Given the description of an element on the screen output the (x, y) to click on. 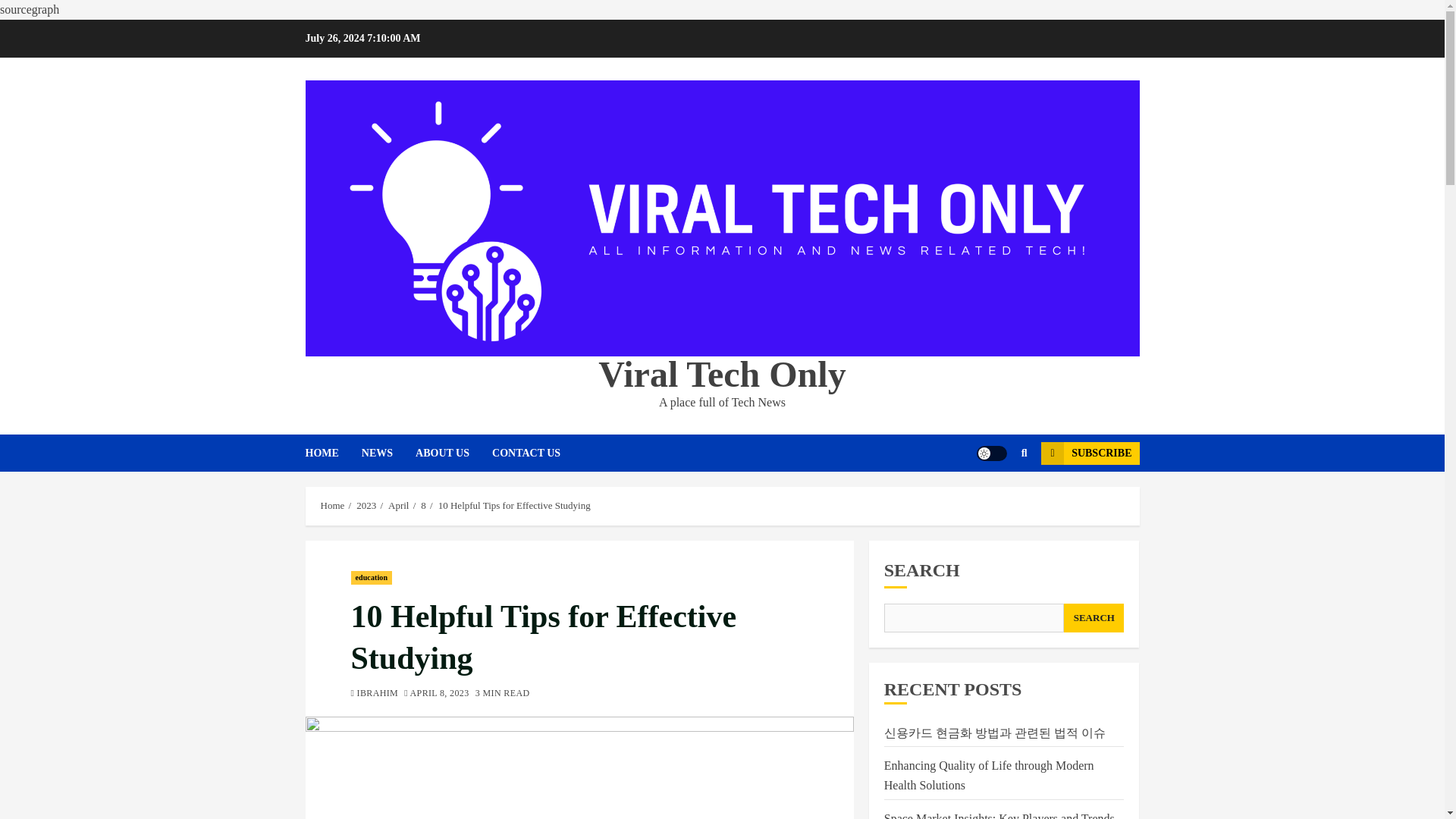
NEWS (387, 452)
April (398, 505)
Viral Tech Only (721, 373)
HOME (332, 452)
Home (331, 505)
ABOUT US (453, 452)
Search (994, 498)
sourcegraph (29, 9)
Space Market Insights: Key Players and Trends (999, 815)
2023 (365, 505)
IBRAHIM (373, 694)
Enhancing Quality of Life through Modern Health Solutions (988, 775)
SUBSCRIBE (1089, 453)
SEARCH (1094, 617)
10 Helpful Tips for Effective Studying (514, 505)
